Given the description of an element on the screen output the (x, y) to click on. 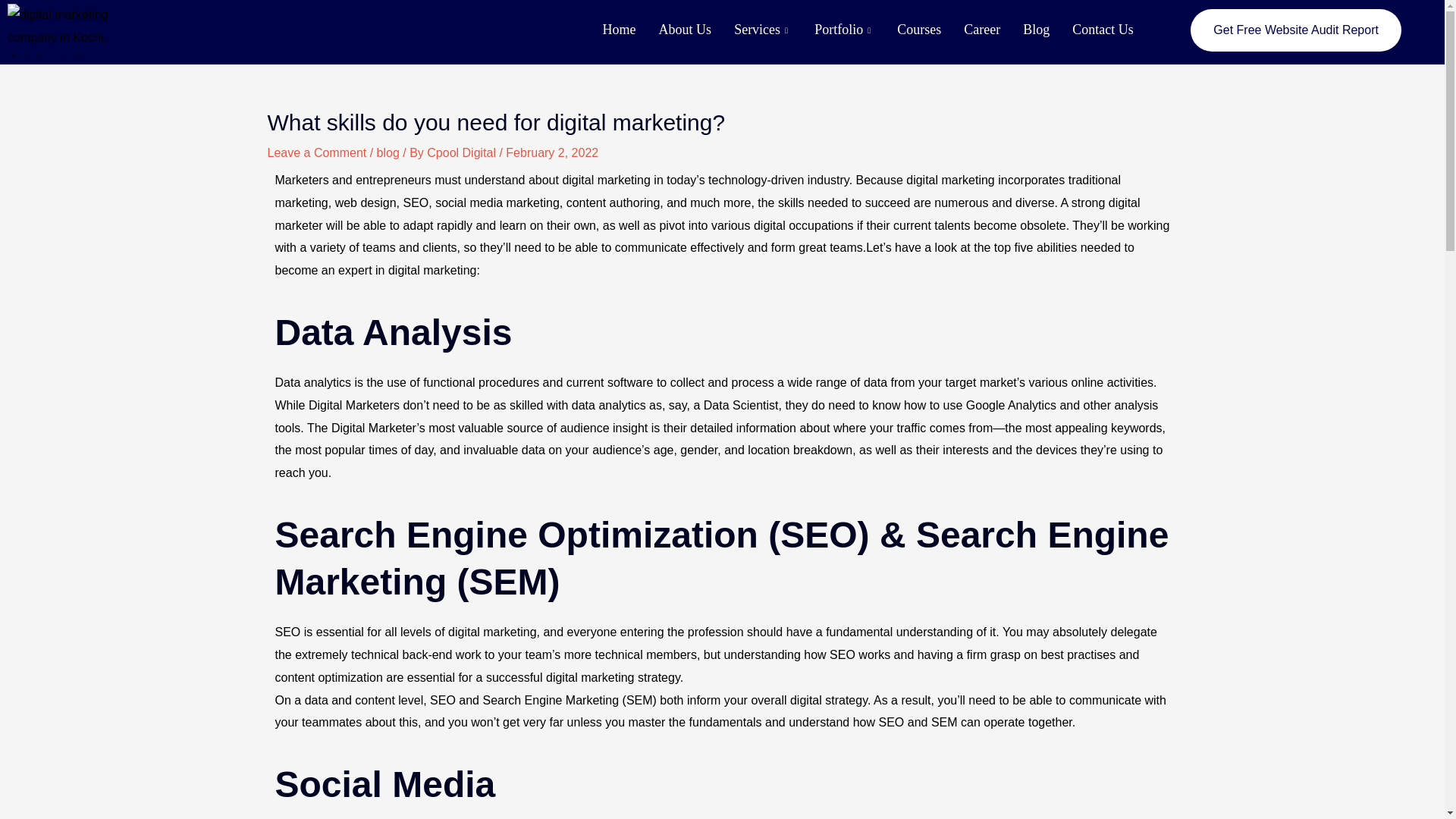
Home (619, 30)
View all posts by Cpool Digital (462, 152)
Leave a Comment (316, 152)
Blog (1036, 30)
Portfolio (844, 30)
Courses (918, 30)
blog (387, 152)
Cpool Digital (462, 152)
Contact Us (1102, 30)
Career (981, 30)
